Given the description of an element on the screen output the (x, y) to click on. 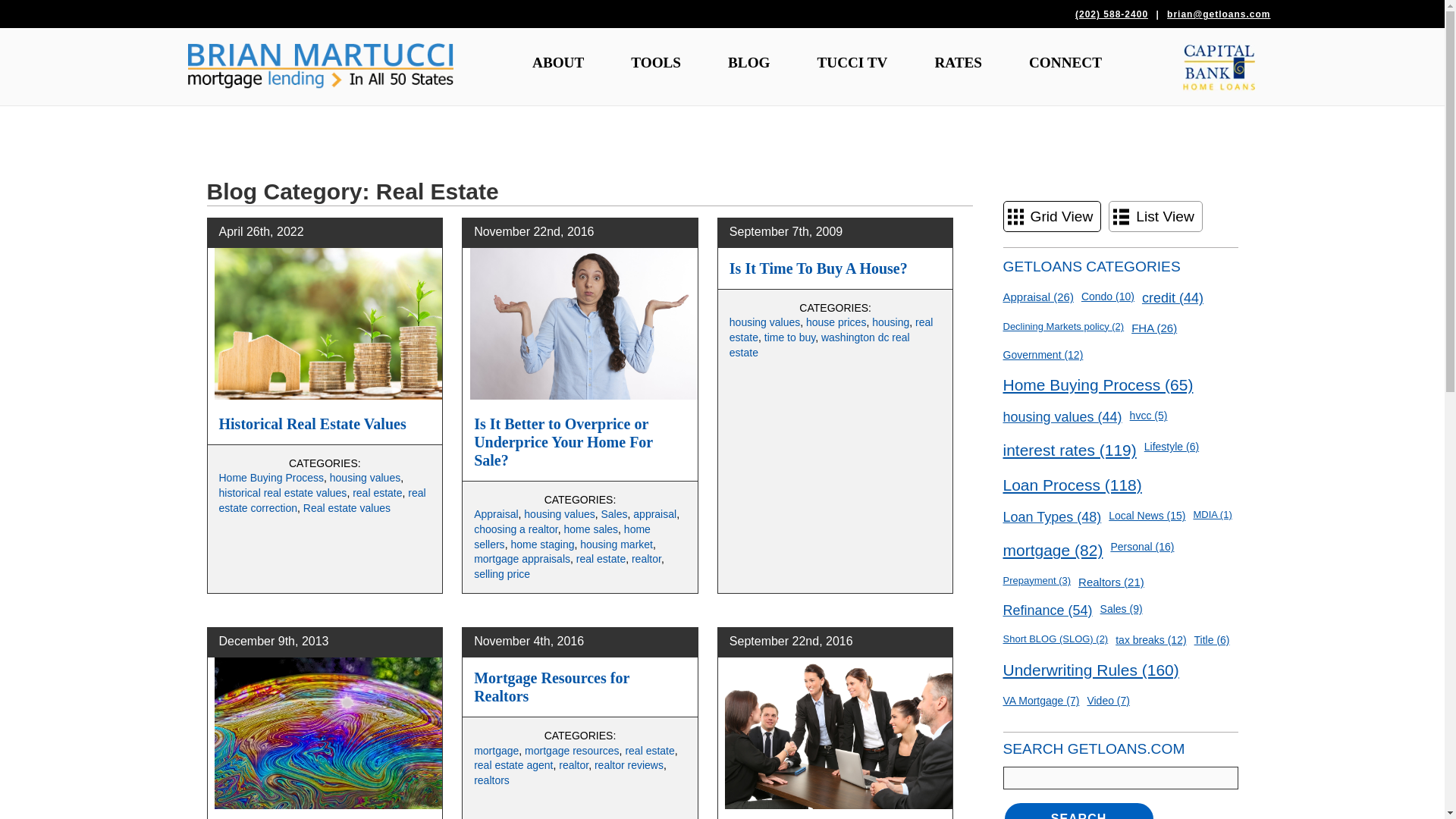
RATES (957, 62)
BLOG (748, 62)
CONNECT (1065, 61)
ABOUT (558, 61)
Permanent Link to Mortgage Resources for Realtors (551, 686)
Historical Real Estate Values (312, 423)
TOOLS (655, 61)
Permanent Link to Is It Time To Buy A House? (818, 268)
TUCCI TV (852, 62)
Search (1078, 810)
Permanent Link to Historical Real Estate Values (312, 423)
